Given the description of an element on the screen output the (x, y) to click on. 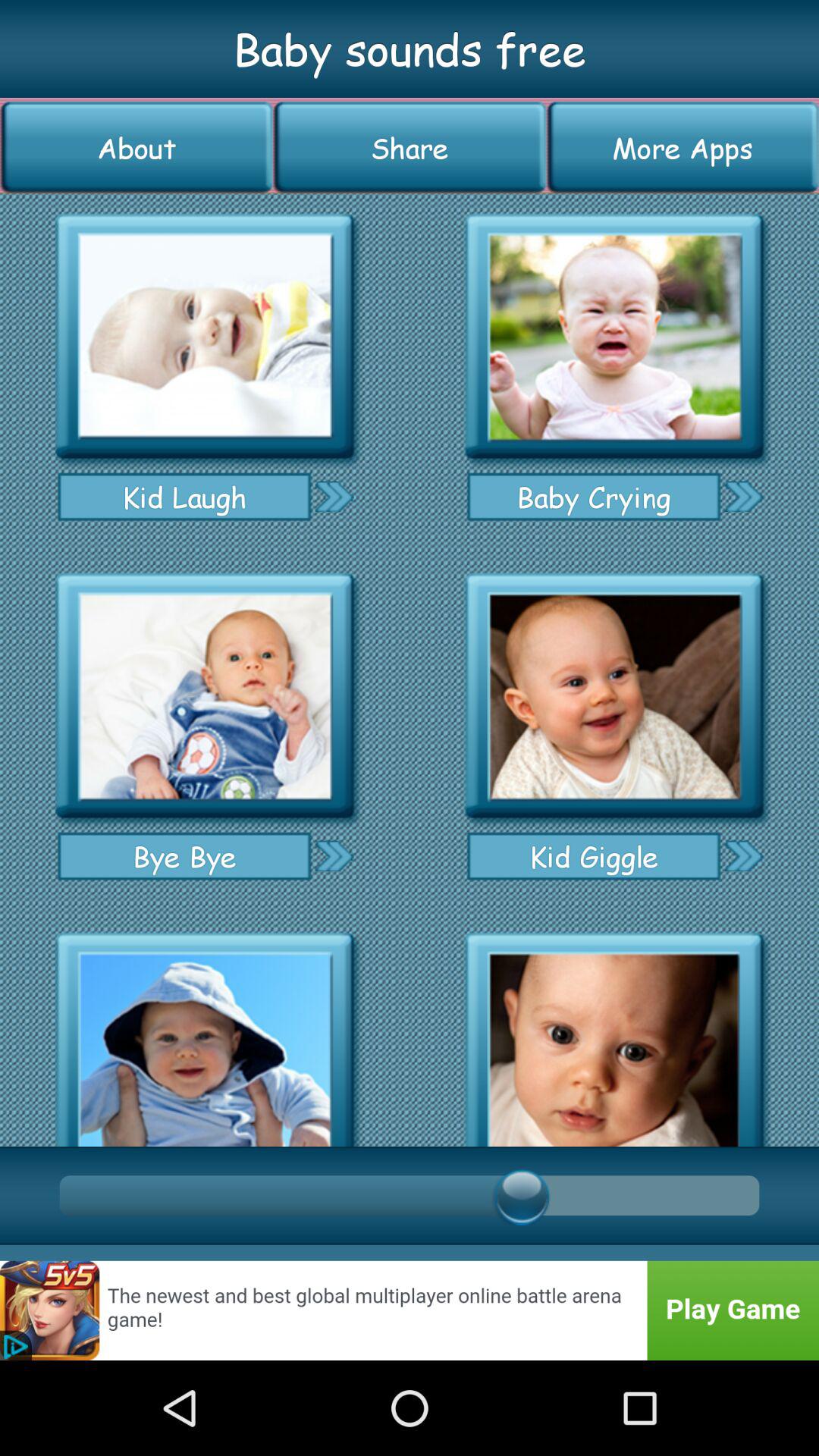
go to previous button (333, 496)
